Given the description of an element on the screen output the (x, y) to click on. 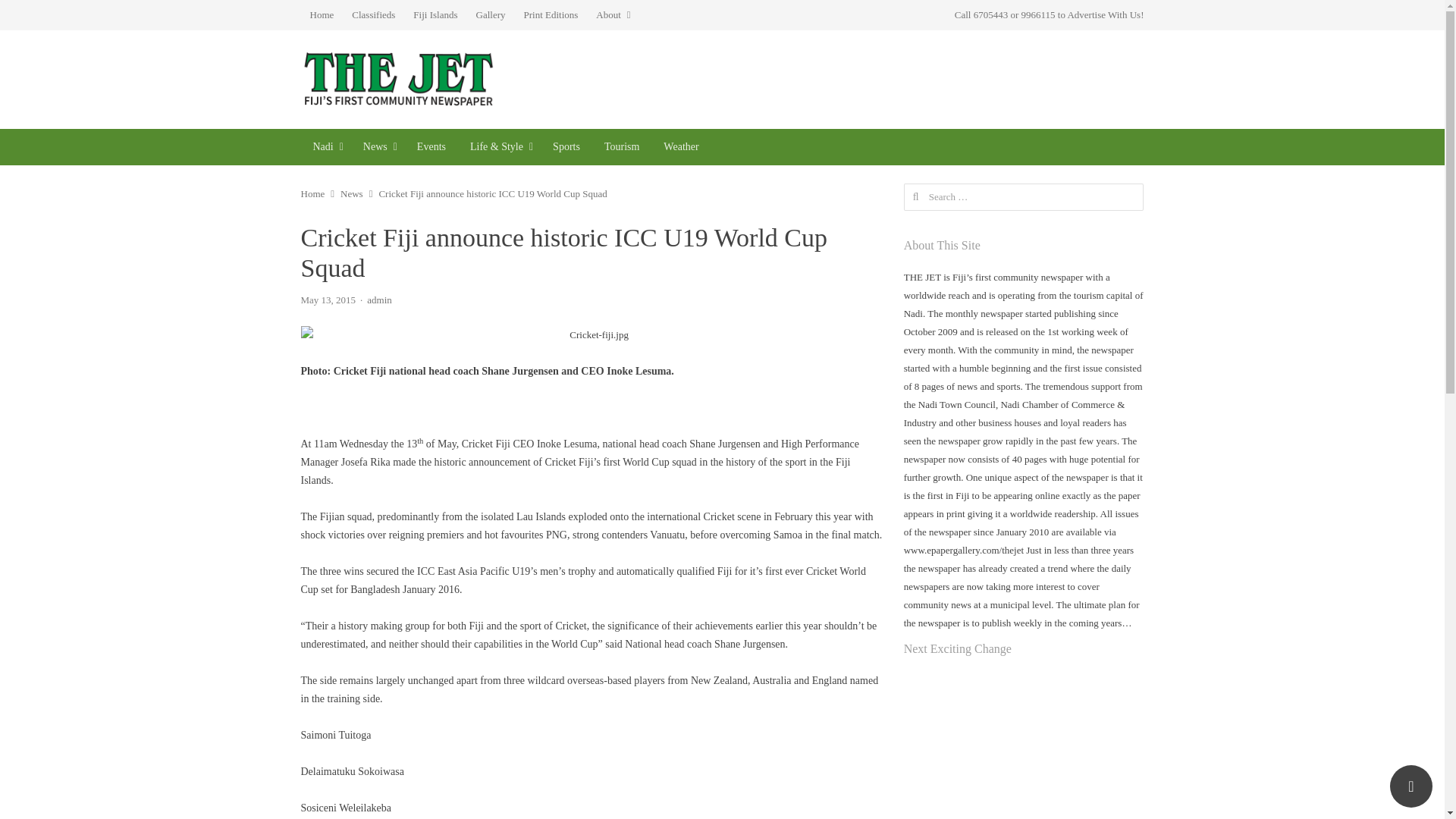
Events (431, 146)
Scroll to top (1411, 785)
Print Editions (549, 14)
scroll to top (1411, 785)
News (351, 193)
Weather (680, 146)
Search (25, 13)
About (612, 14)
Gallery (491, 14)
Nadi (324, 146)
Home (311, 193)
Tourism (621, 146)
Fiji Islands (434, 14)
admin (378, 299)
Classifieds (373, 14)
